Given the description of an element on the screen output the (x, y) to click on. 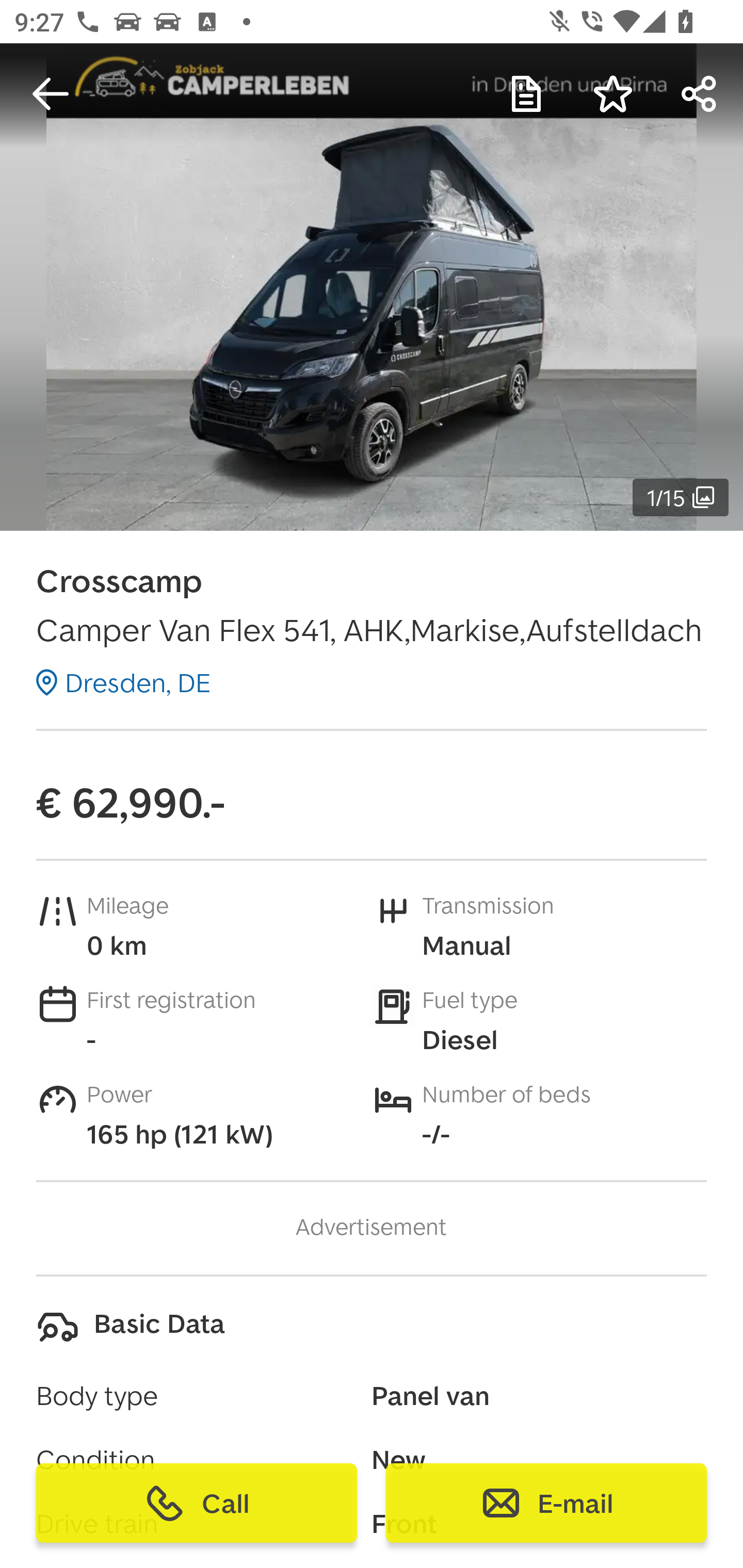
Navigate up (50, 93)
My Notes (525, 93)
Save (612, 93)
Forward (699, 93)
Dresden, DE (123, 681)
Call (196, 1502)
E-mail (545, 1502)
